Given the description of an element on the screen output the (x, y) to click on. 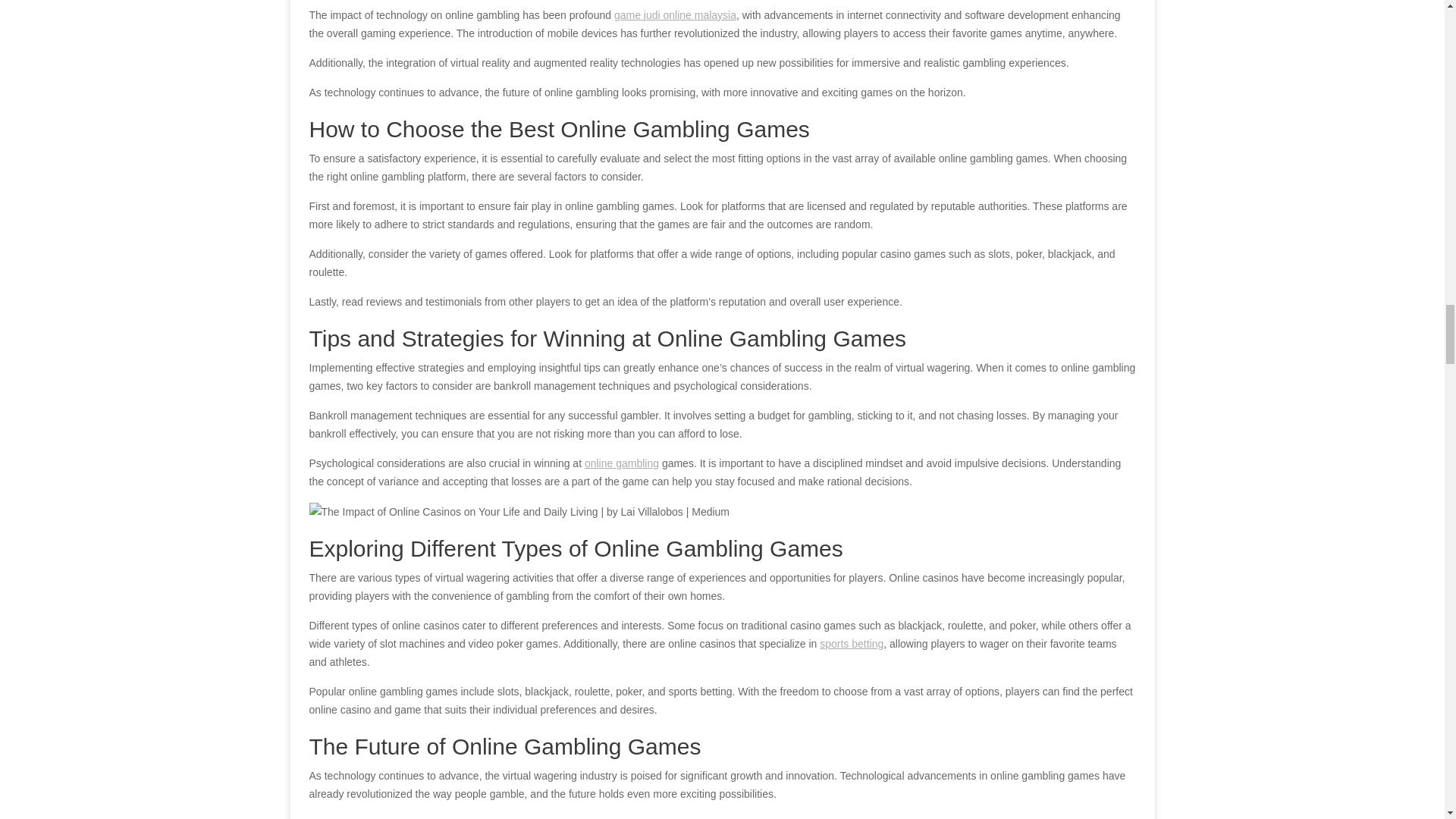
online gambling (622, 463)
game judi online malaysia (675, 15)
sports betting (851, 644)
